Given the description of an element on the screen output the (x, y) to click on. 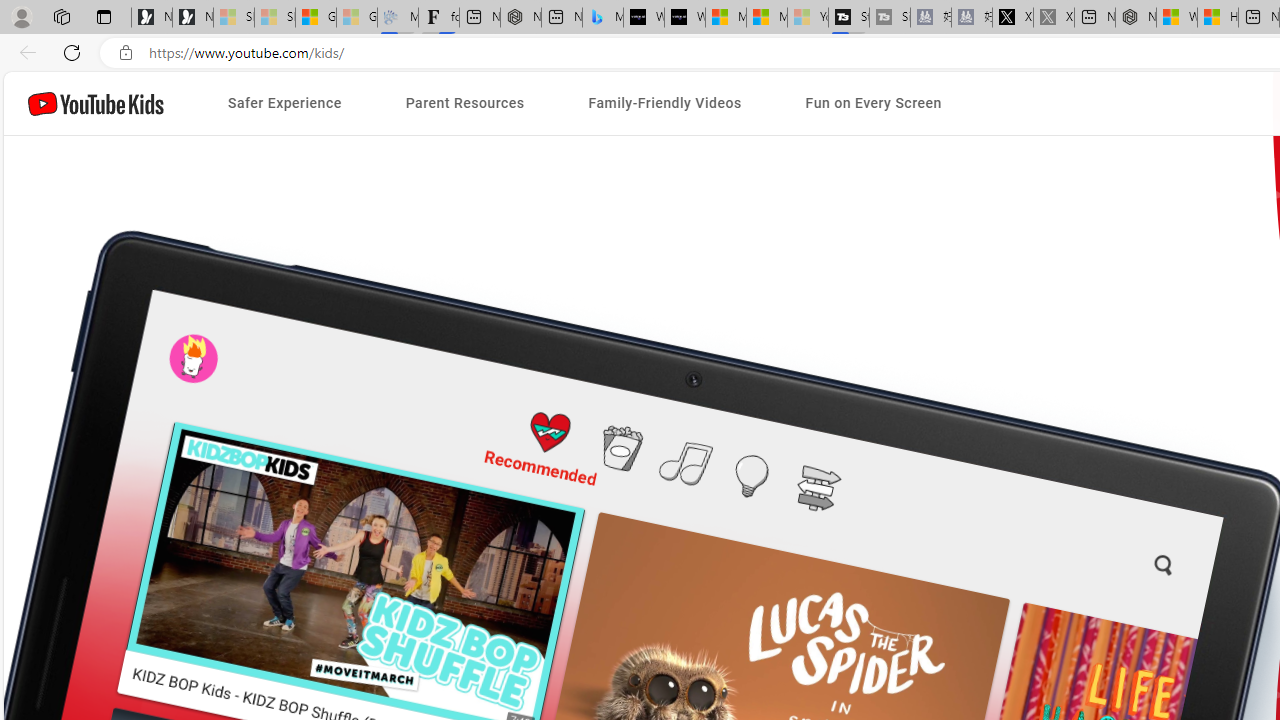
Newsletter Sign Up (192, 17)
